Given the description of an element on the screen output the (x, y) to click on. 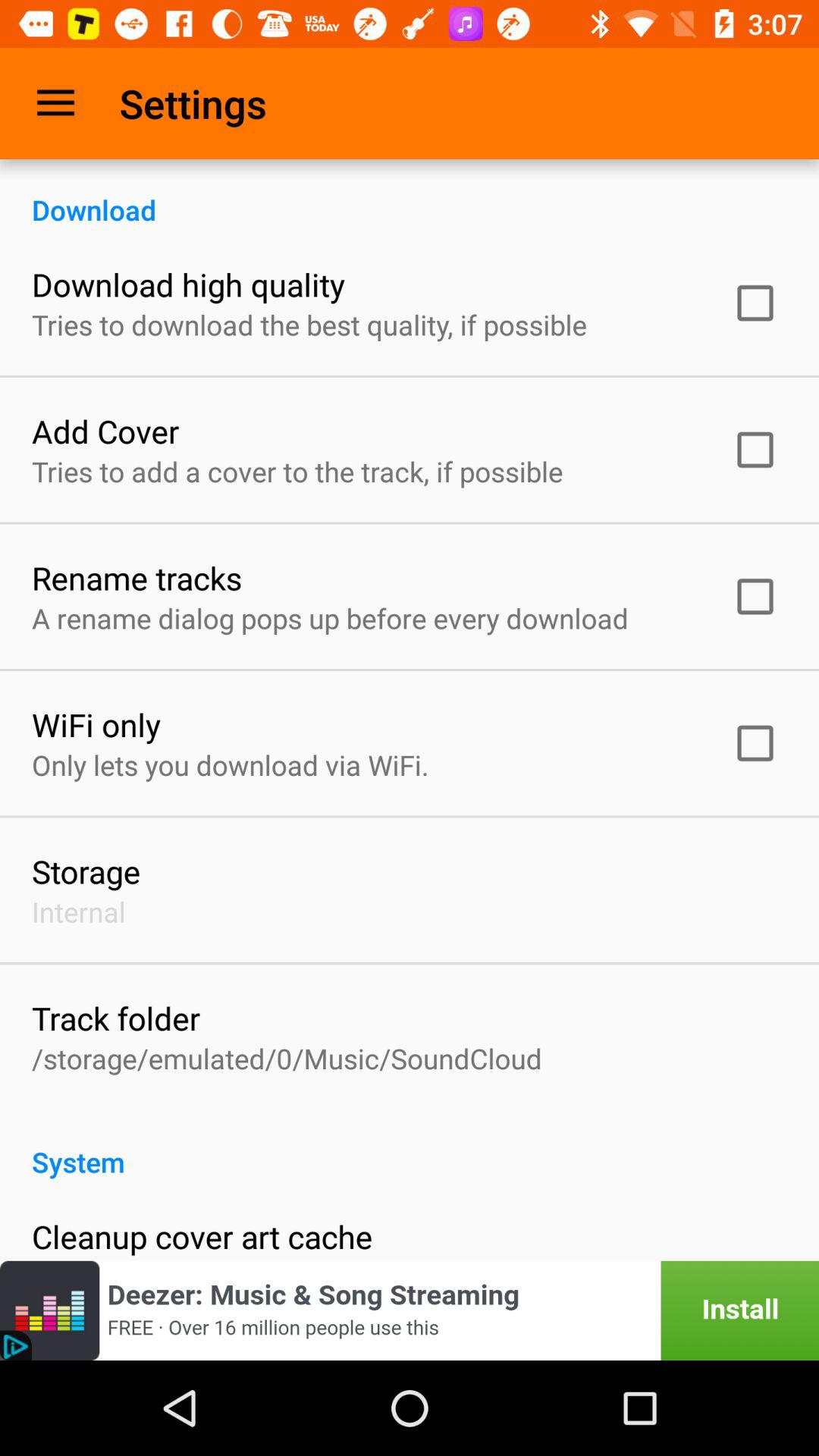
turn on item to the left of the settings item (55, 103)
